Given the description of an element on the screen output the (x, y) to click on. 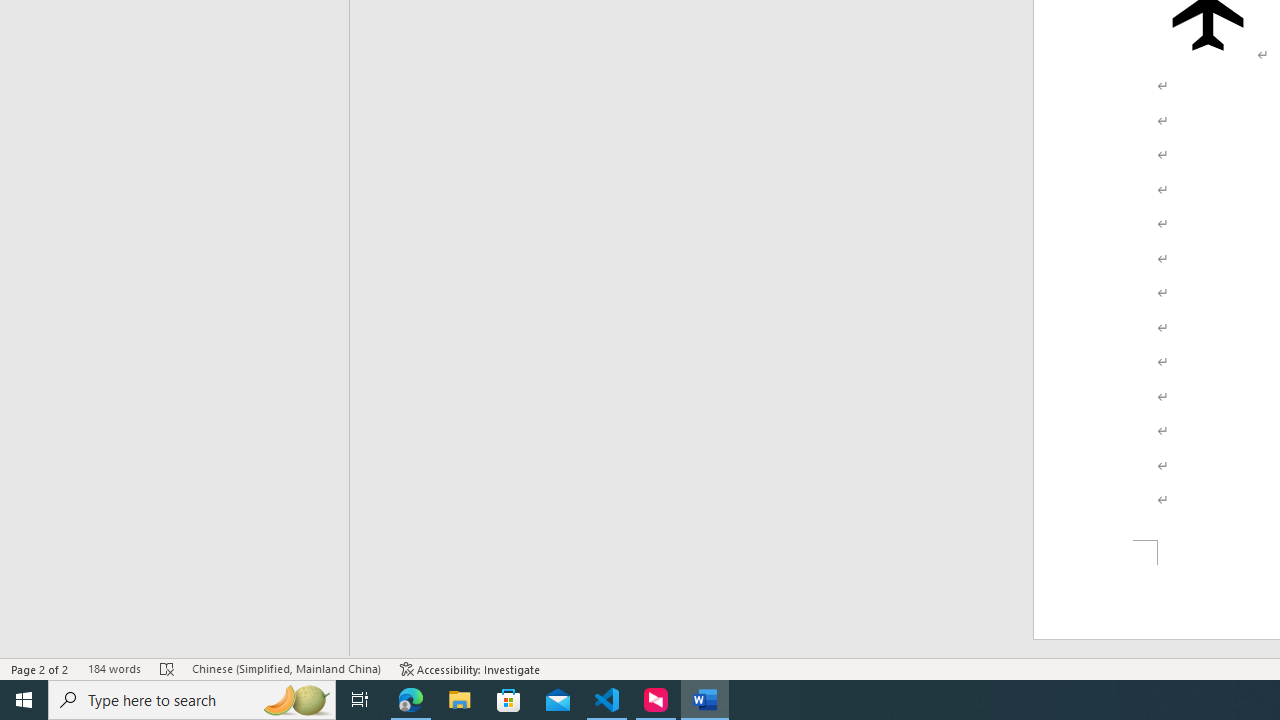
Page Number Page 2 of 2 (39, 668)
Accessibility Checker Accessibility: Investigate (470, 668)
Language Chinese (Simplified, Mainland China) (286, 668)
Spelling and Grammar Check Errors (168, 668)
Word Count 184 words (113, 668)
